Given the description of an element on the screen output the (x, y) to click on. 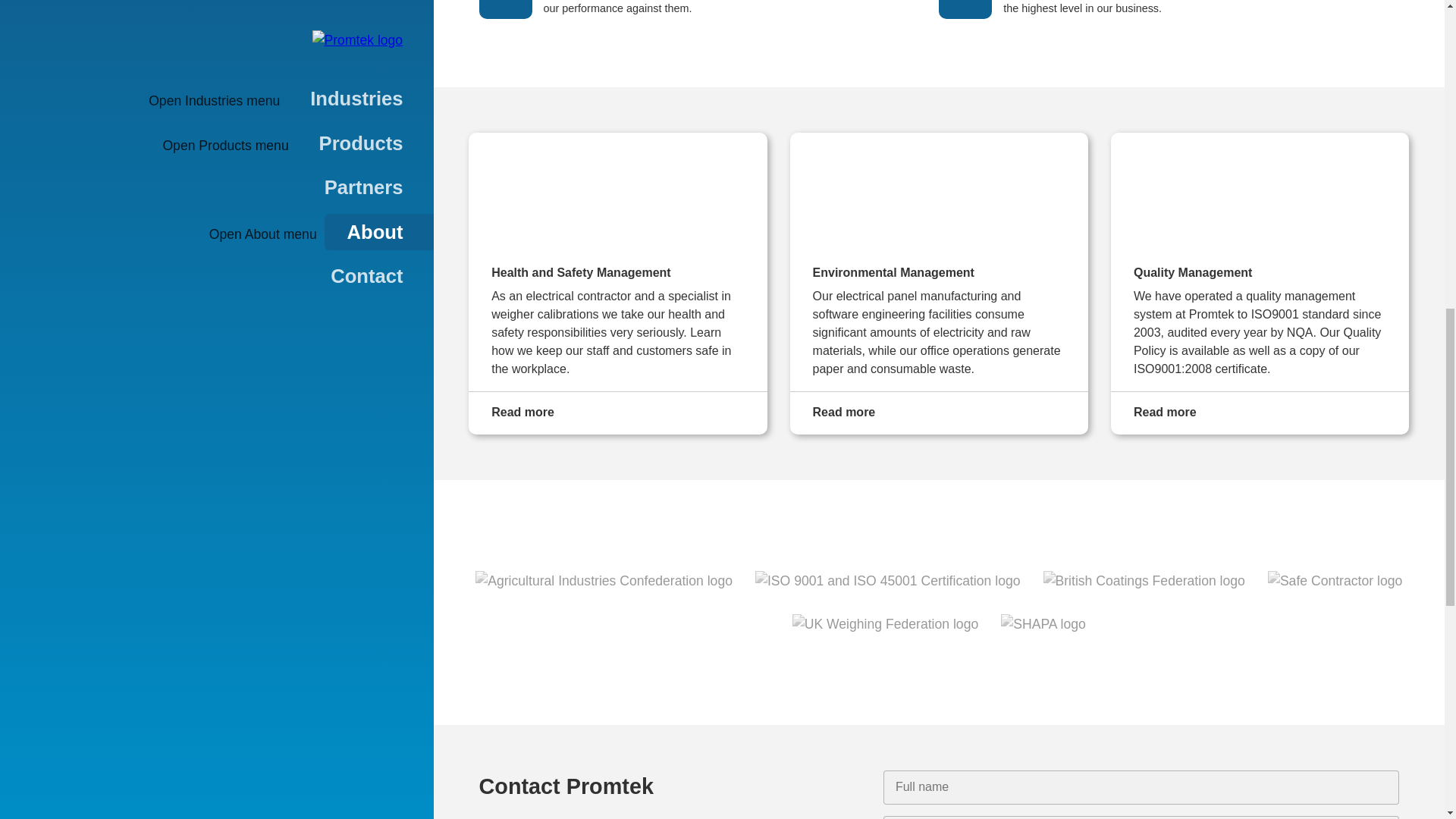
We are ISO 9001 and ISO 45001 certified (887, 580)
Environment Policy (938, 283)
SafeContractor approved member (1335, 580)
A member of the Agricultural Industries Confederation (604, 580)
Quality Policy (1259, 283)
Health and Safety Policy (617, 283)
A member of the British Coatings Federation (1143, 580)
A member of SHAPA (1043, 623)
A member of the UK Weighing Federation (885, 623)
